Given the description of an element on the screen output the (x, y) to click on. 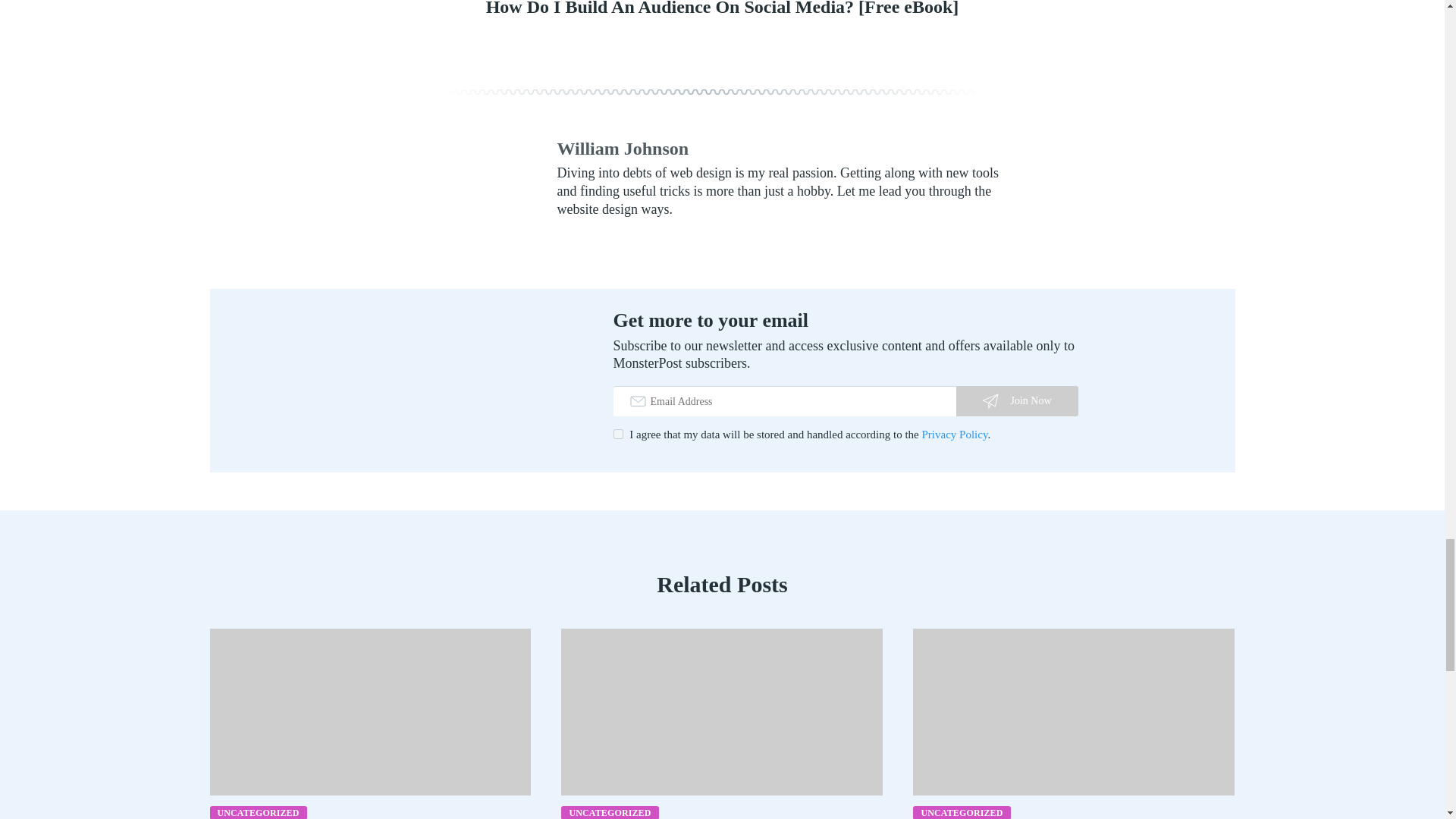
William Johnson (622, 148)
on (617, 433)
